Given the description of an element on the screen output the (x, y) to click on. 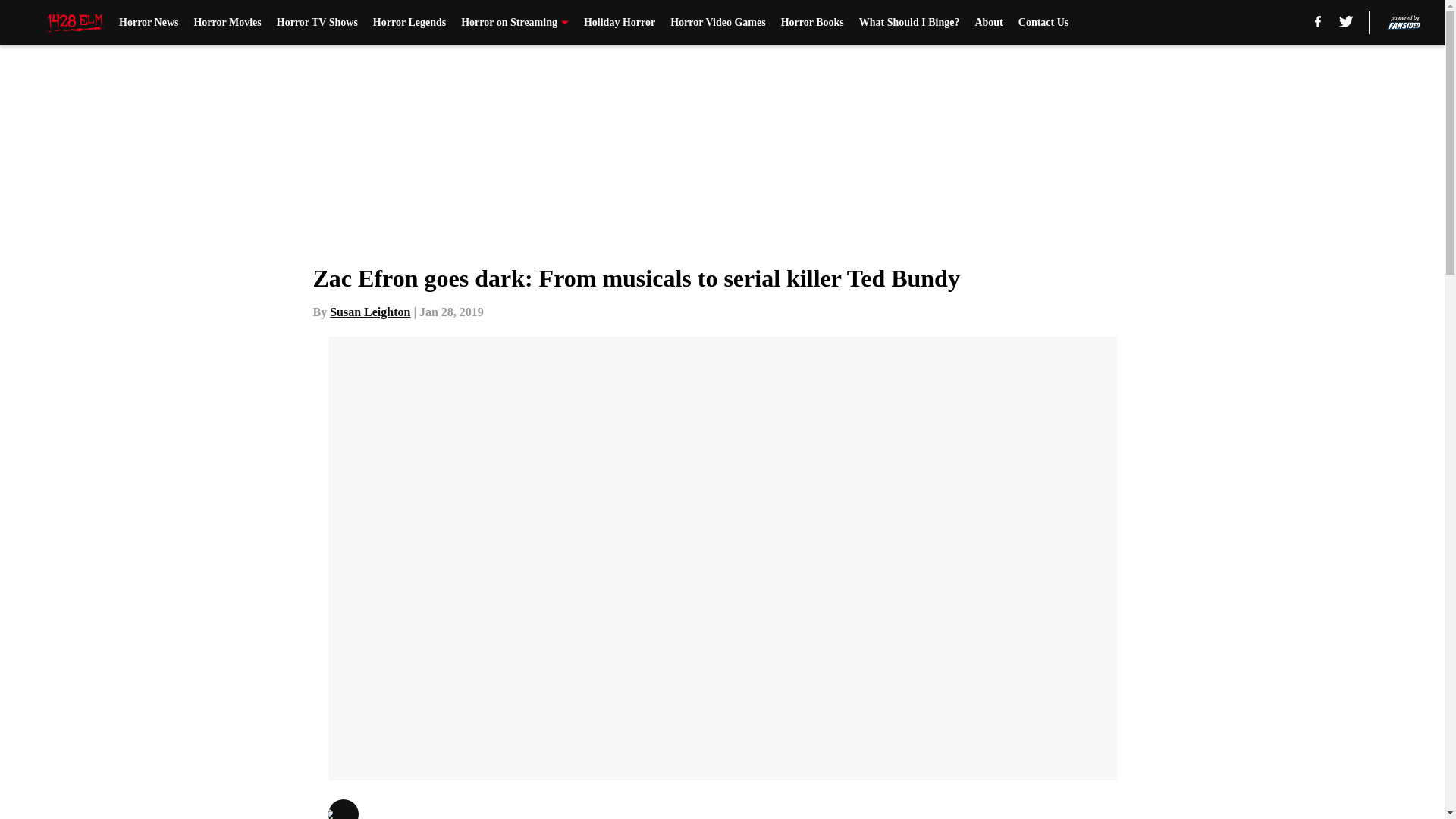
About (988, 22)
Horror Books (812, 22)
Horror Movies (226, 22)
Horror TV Shows (317, 22)
Susan Leighton (370, 311)
Horror News (148, 22)
Contact Us (1042, 22)
What Should I Binge? (909, 22)
Horror Legends (408, 22)
Holiday Horror (619, 22)
